Given the description of an element on the screen output the (x, y) to click on. 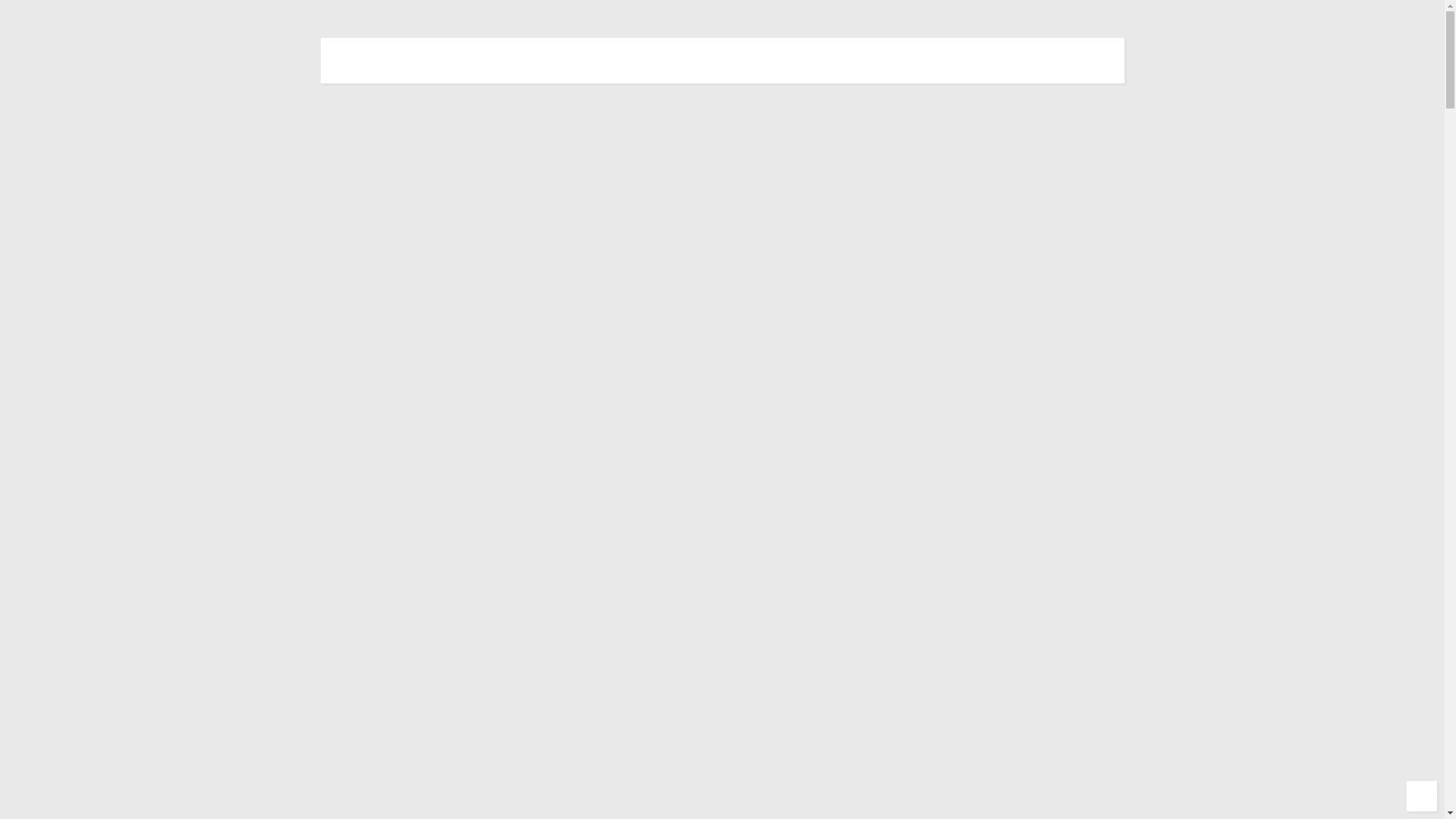
Search Element type: text (416, 607)
